Given the description of an element on the screen output the (x, y) to click on. 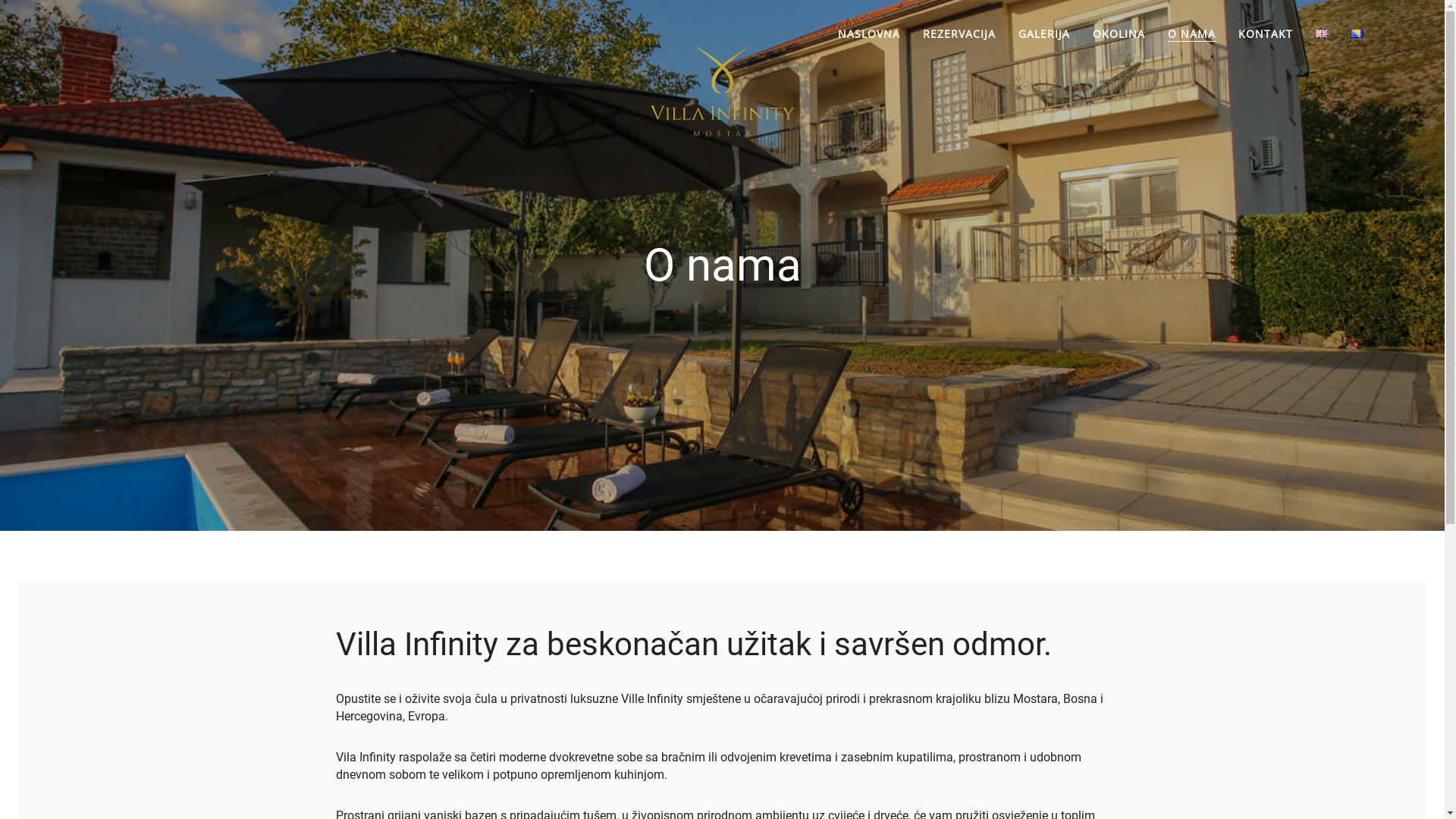
GALERIJA Element type: text (1044, 33)
NASLOVNA Element type: text (868, 33)
KONTAKT Element type: text (1265, 33)
OKOLINA Element type: text (1118, 33)
REZERVACIJA Element type: text (958, 33)
O NAMA Element type: text (1191, 33)
